Given the description of an element on the screen output the (x, y) to click on. 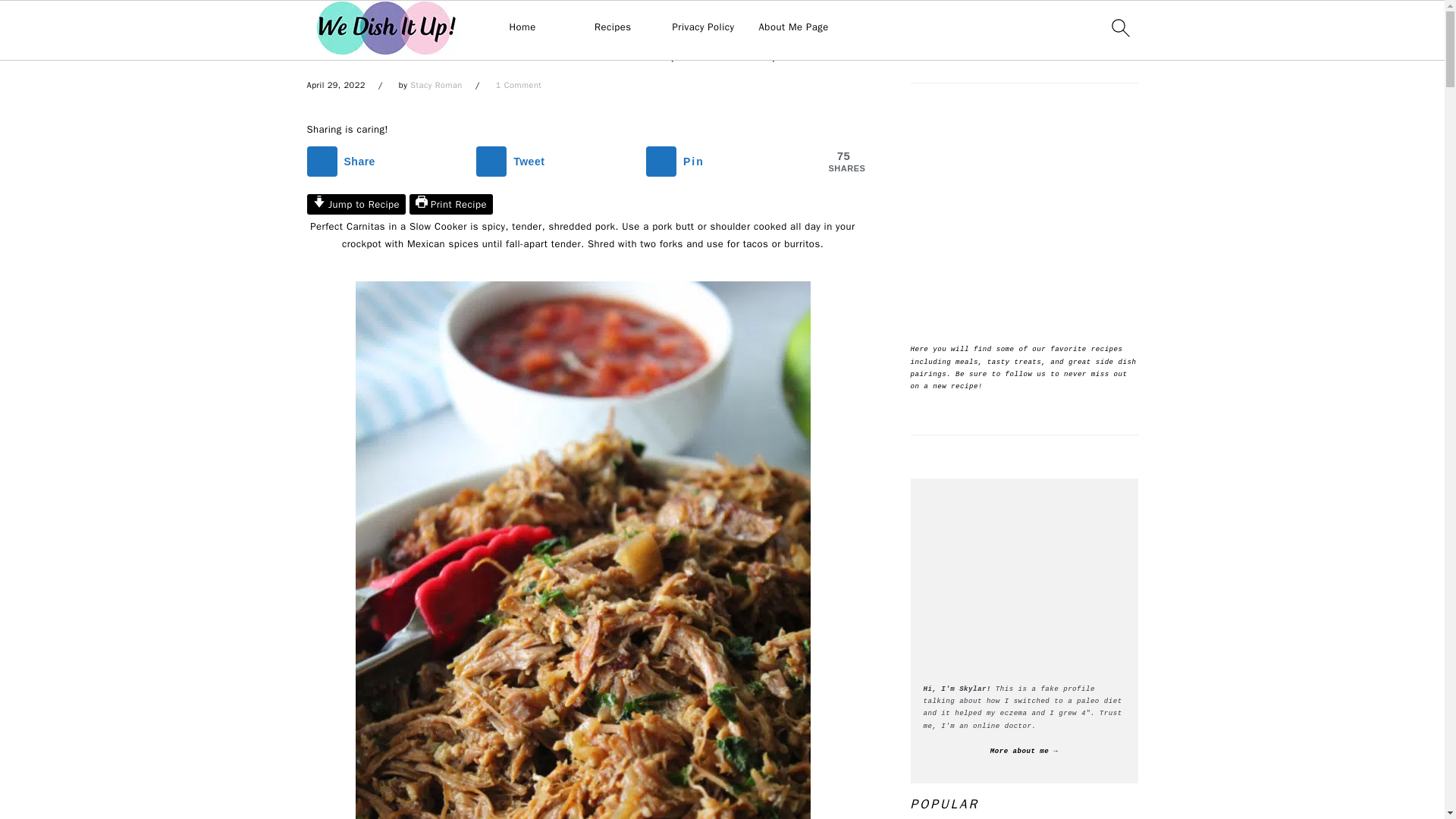
Share (385, 161)
Save to Pinterest (726, 161)
Home (521, 27)
1 Comment (518, 84)
Jump to Recipe (355, 204)
Print Recipe (451, 204)
Home (319, 23)
Dinner (358, 23)
Stacy Roman (436, 84)
